Given the description of an element on the screen output the (x, y) to click on. 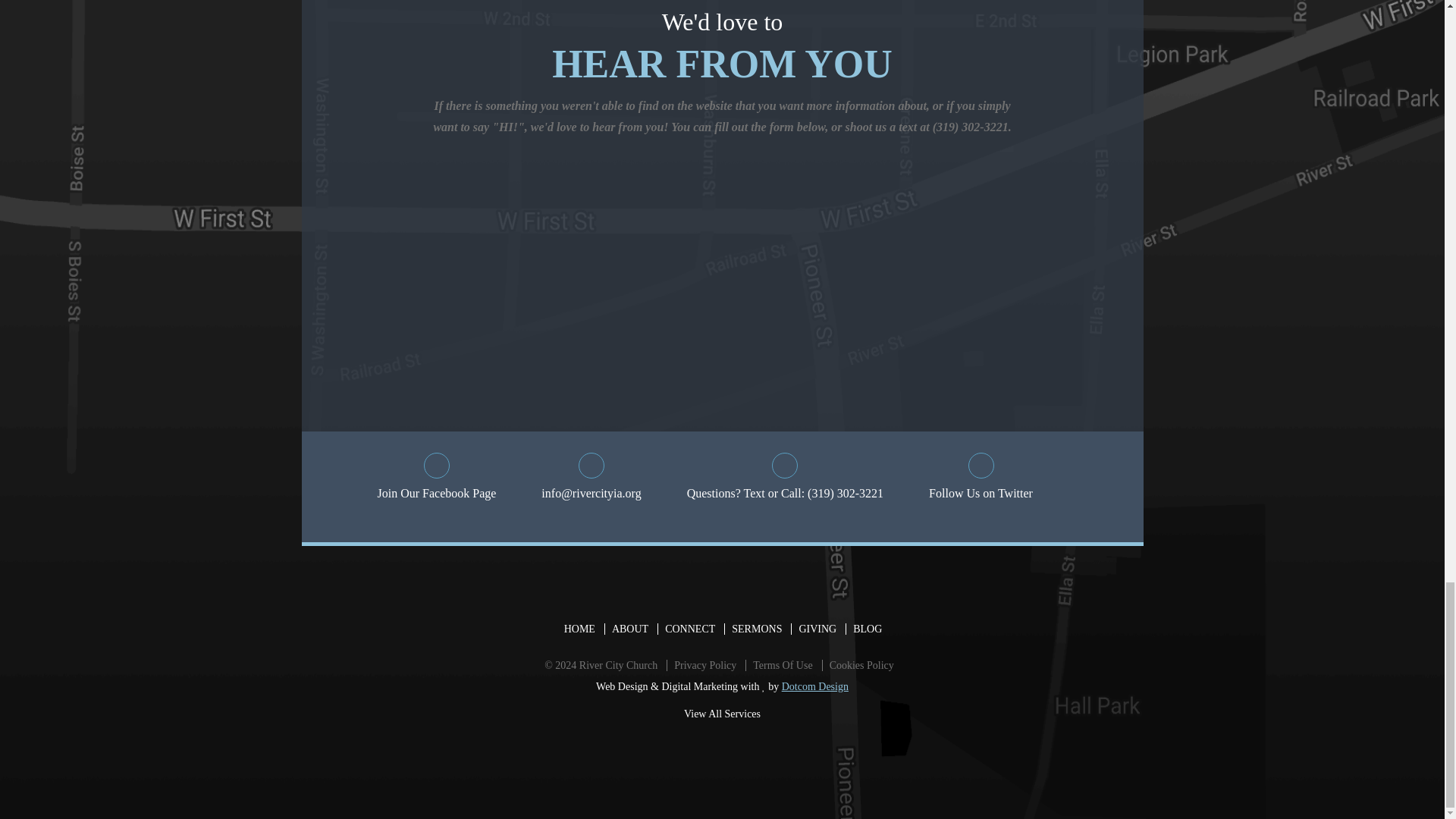
Terms of Use (781, 665)
Follow Us on Twitter (980, 477)
Join Our Facebook Page (436, 477)
Privacy Policy (704, 665)
Join Our Facebook Group (436, 477)
Submit (1040, 295)
Follow Us on Twitter (980, 477)
